Given the description of an element on the screen output the (x, y) to click on. 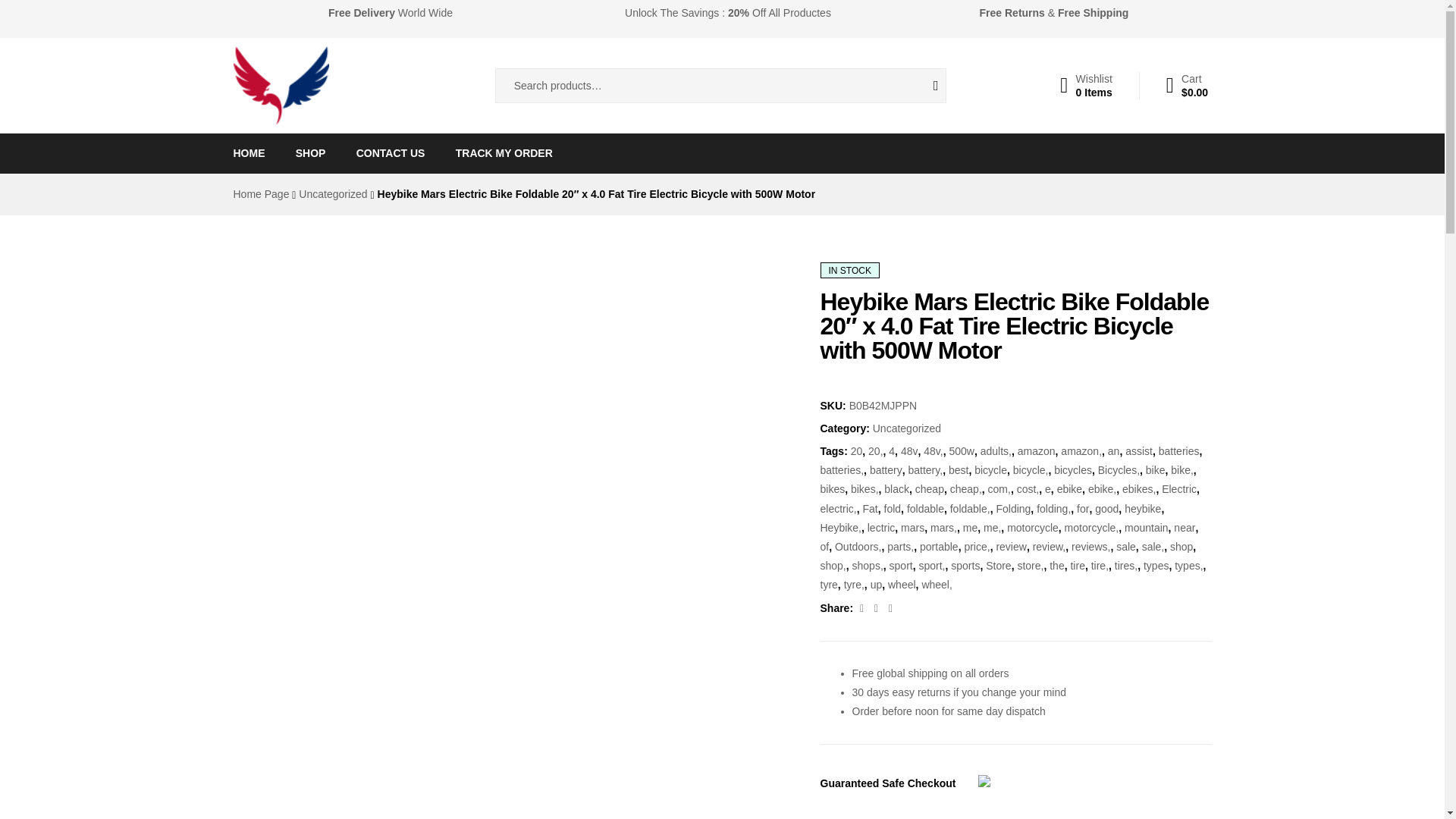
Bicycles, (1118, 469)
an (1113, 451)
battery (885, 469)
amazon, (1081, 451)
amazon (1036, 451)
CONTACT US (1085, 85)
Share on facebook (390, 153)
black (863, 607)
best (895, 489)
TRACK MY ORDER (958, 469)
bike, (504, 153)
Search (1181, 469)
bicycle (923, 85)
Home Page (990, 469)
